Given the description of an element on the screen output the (x, y) to click on. 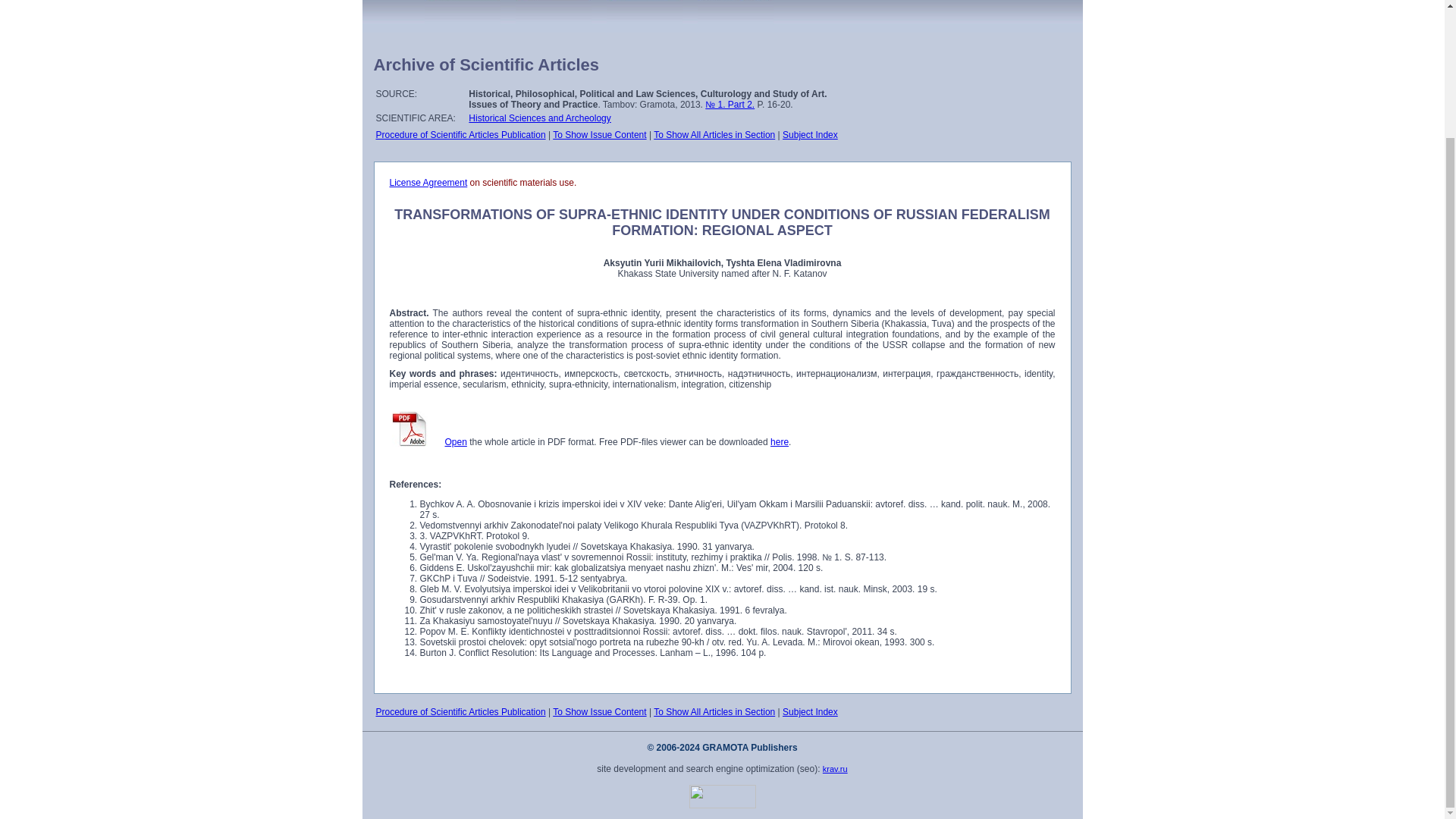
Historical Sciences and Archeology (539, 118)
Subject Index (810, 711)
Procedure of Scientific Articles Publication (460, 711)
License Agreement (428, 182)
To Show All Articles in Section (713, 134)
To Show All Articles in Section (713, 711)
Open (454, 441)
Subject Index (810, 134)
Procedure of Scientific Articles Publication (460, 134)
To Show Issue Content (599, 134)
